Given the description of an element on the screen output the (x, y) to click on. 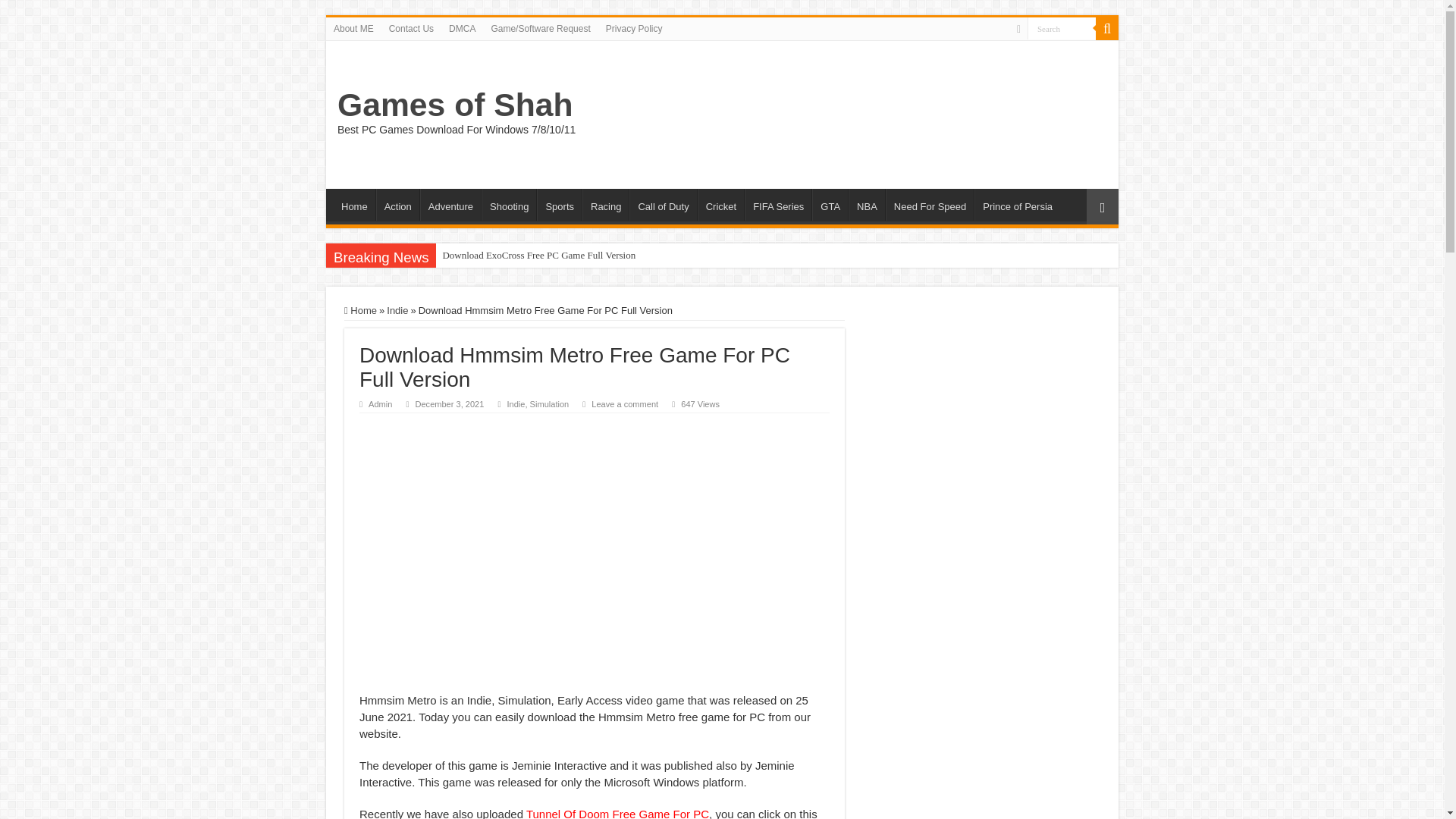
Indie (515, 403)
Call of Duty (661, 204)
GTA (829, 204)
Games of Shah (455, 104)
Indie (397, 310)
Download ExoCross Free PC Game Full Version (567, 255)
Prince of Persia (1016, 204)
Adventure (450, 204)
Cricket (720, 204)
Action (397, 204)
Shooting (508, 204)
FIFA Series (777, 204)
Search (1061, 28)
Sports (558, 204)
Simulation (549, 403)
